Given the description of an element on the screen output the (x, y) to click on. 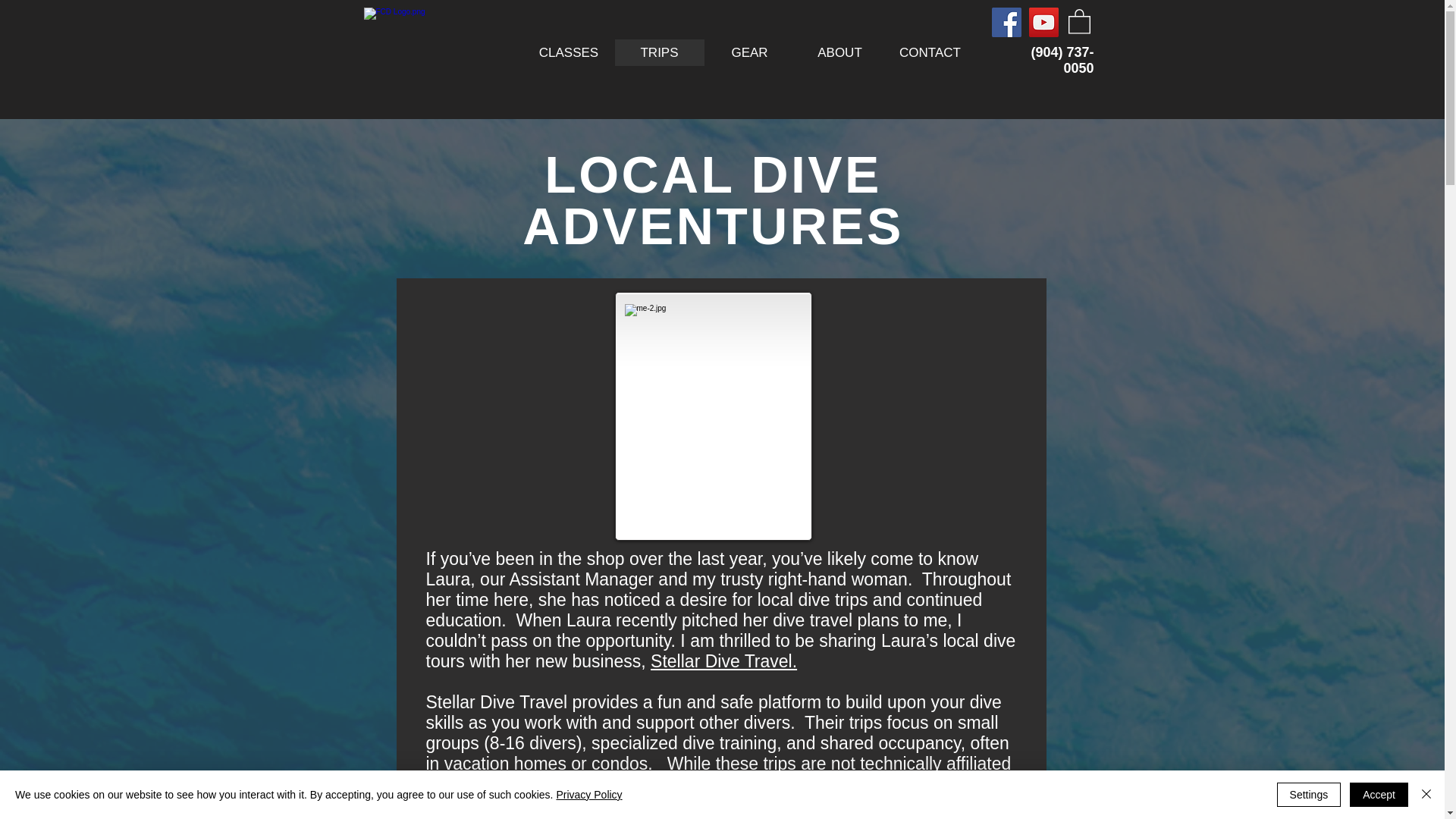
Stellar Dive Travel. (723, 660)
TRIPS (659, 52)
CONTACT (928, 52)
Learn to dive Jacksonville FL - First Coast Divers Logo (425, 52)
ABOUT (839, 52)
